Given the description of an element on the screen output the (x, y) to click on. 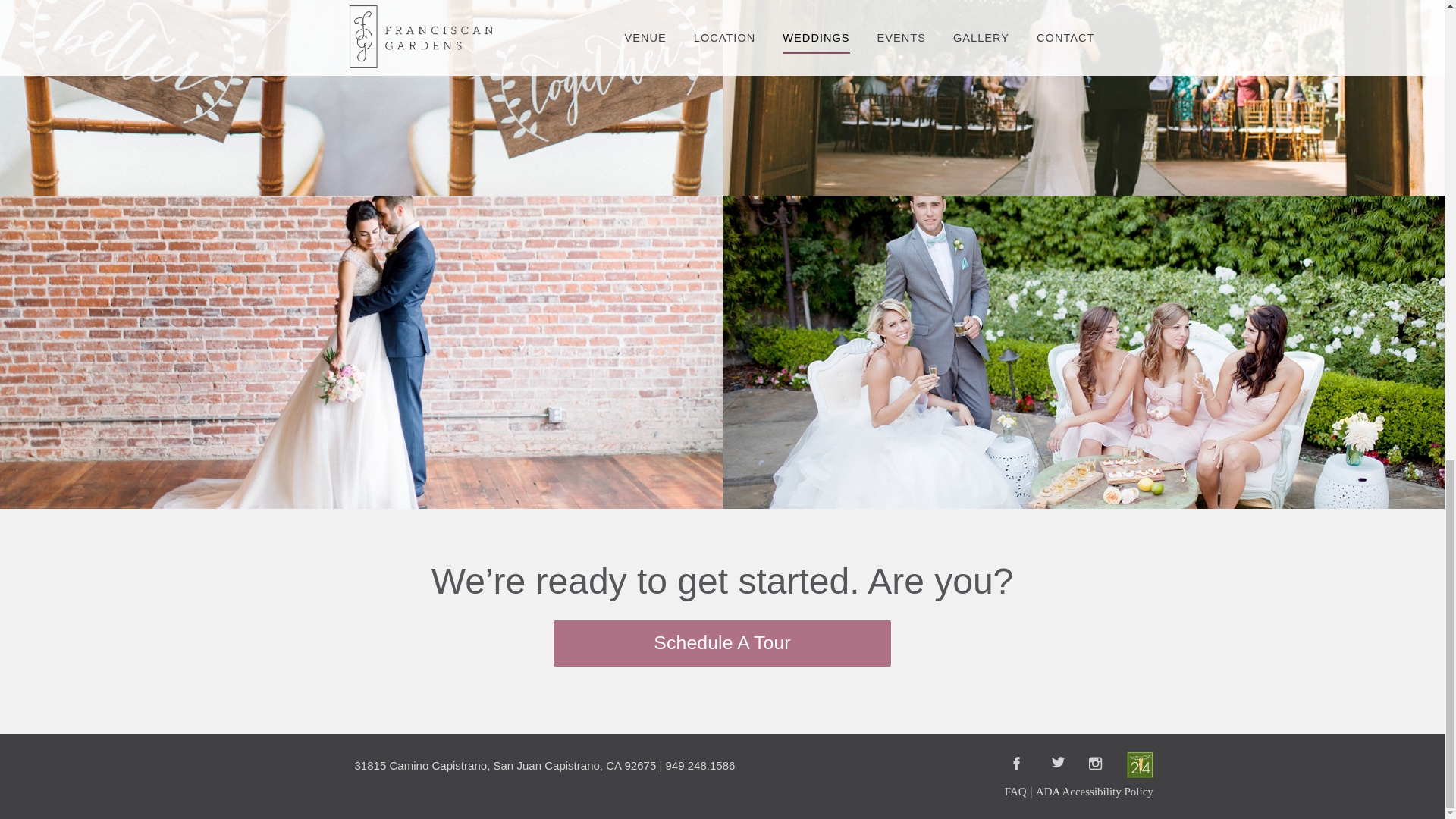
ADA Accessibility Policy (1094, 791)
Instagram (1096, 764)
Facebook (1020, 764)
Twitter (1058, 764)
Schedule A Tour (722, 643)
FAQ (1015, 791)
